Given the description of an element on the screen output the (x, y) to click on. 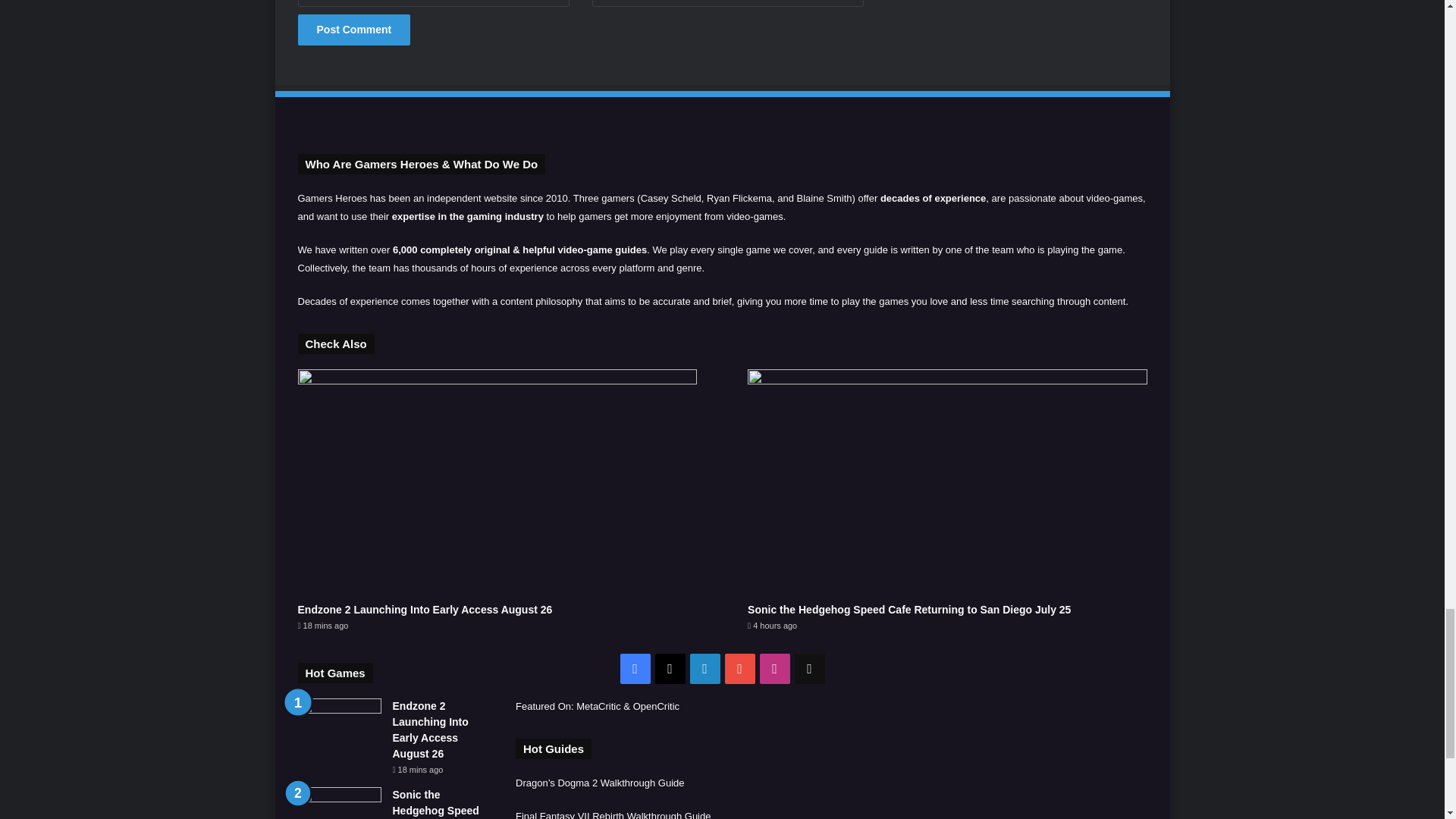
Post Comment (353, 29)
